Given the description of an element on the screen output the (x, y) to click on. 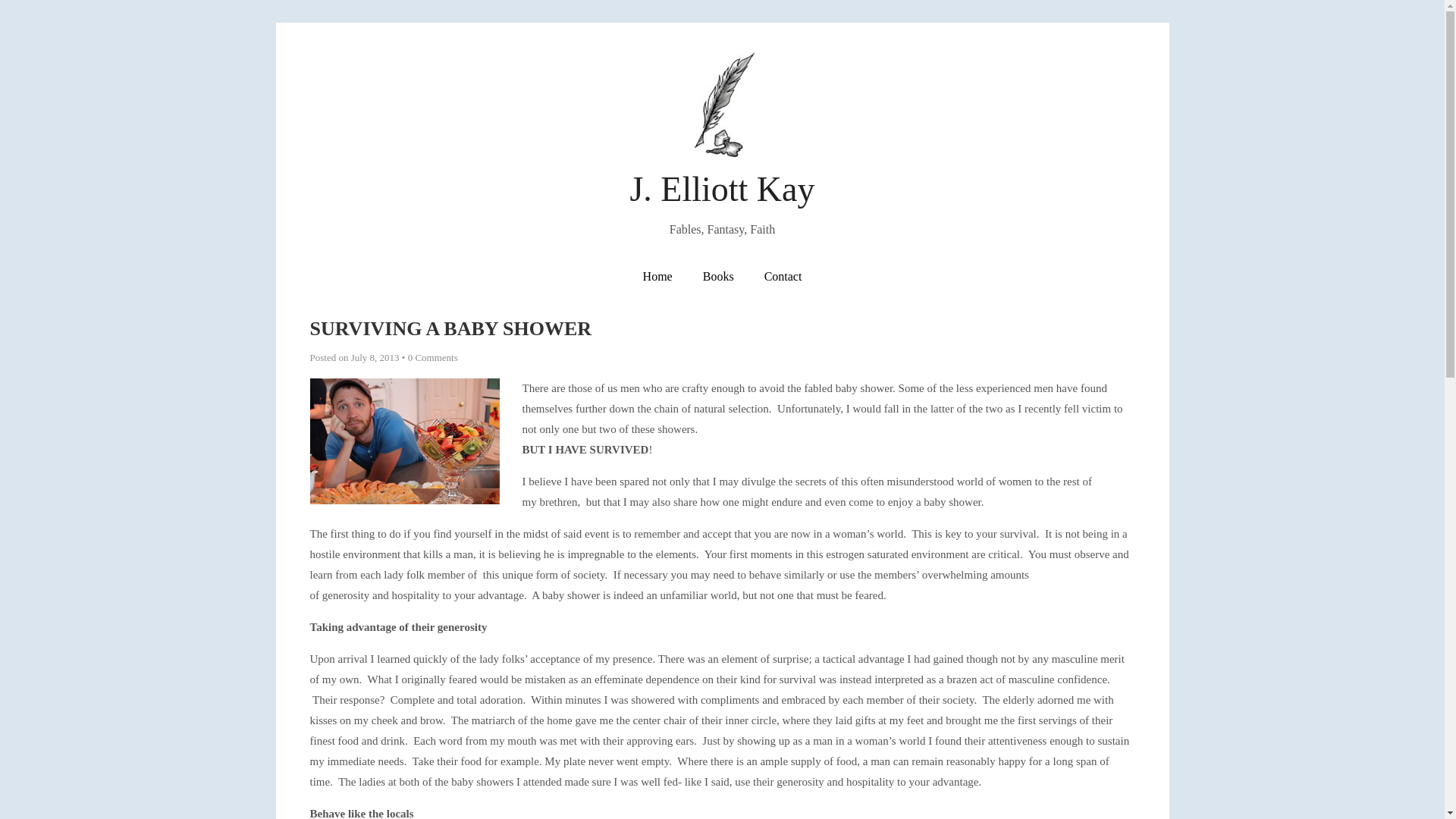
Home (657, 276)
Contact (782, 276)
Books (718, 276)
J. Elliott Kay (721, 189)
0 Comments (432, 357)
